Given the description of an element on the screen output the (x, y) to click on. 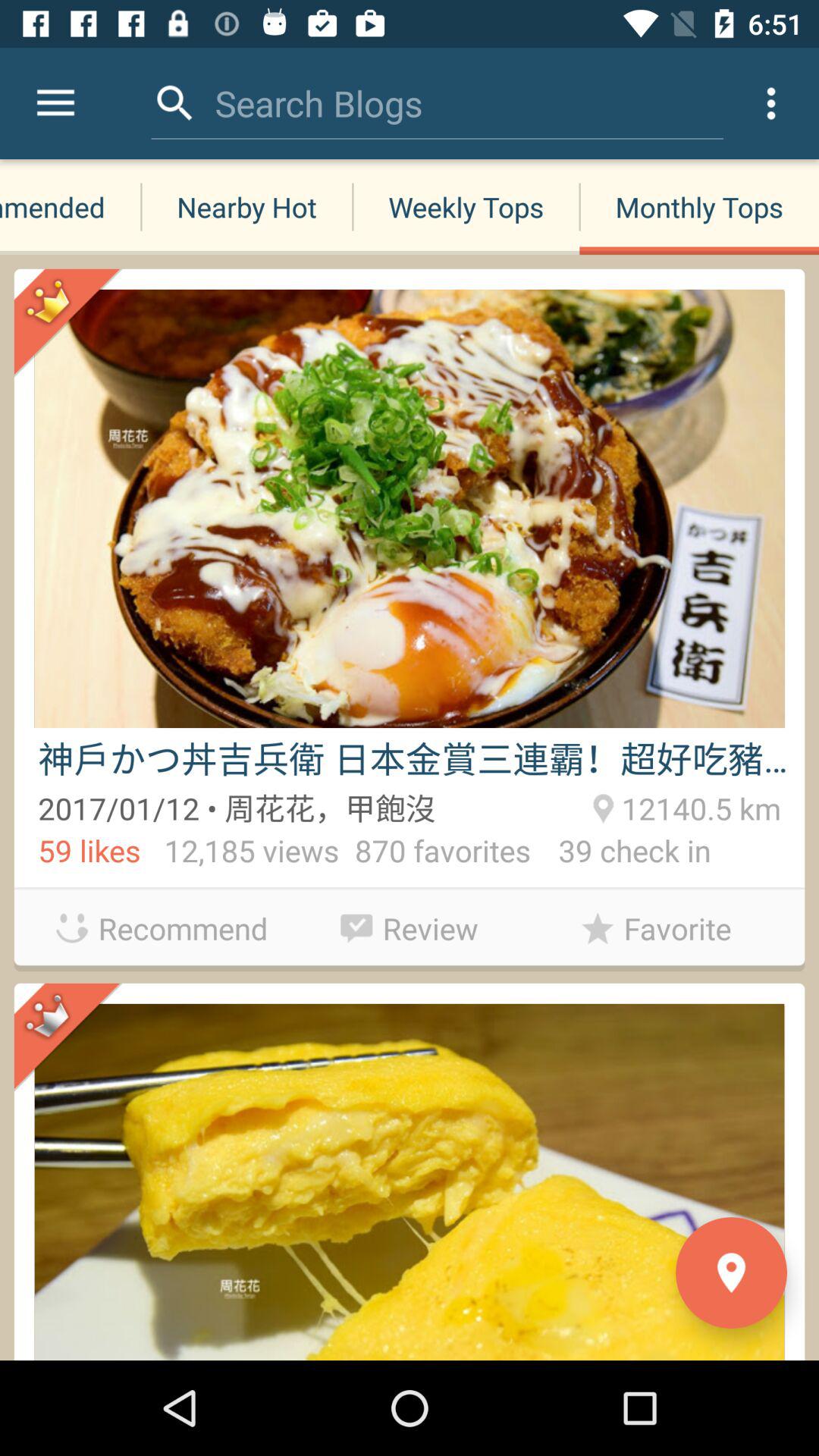
open the icon above monthly tops (771, 103)
